Given the description of an element on the screen output the (x, y) to click on. 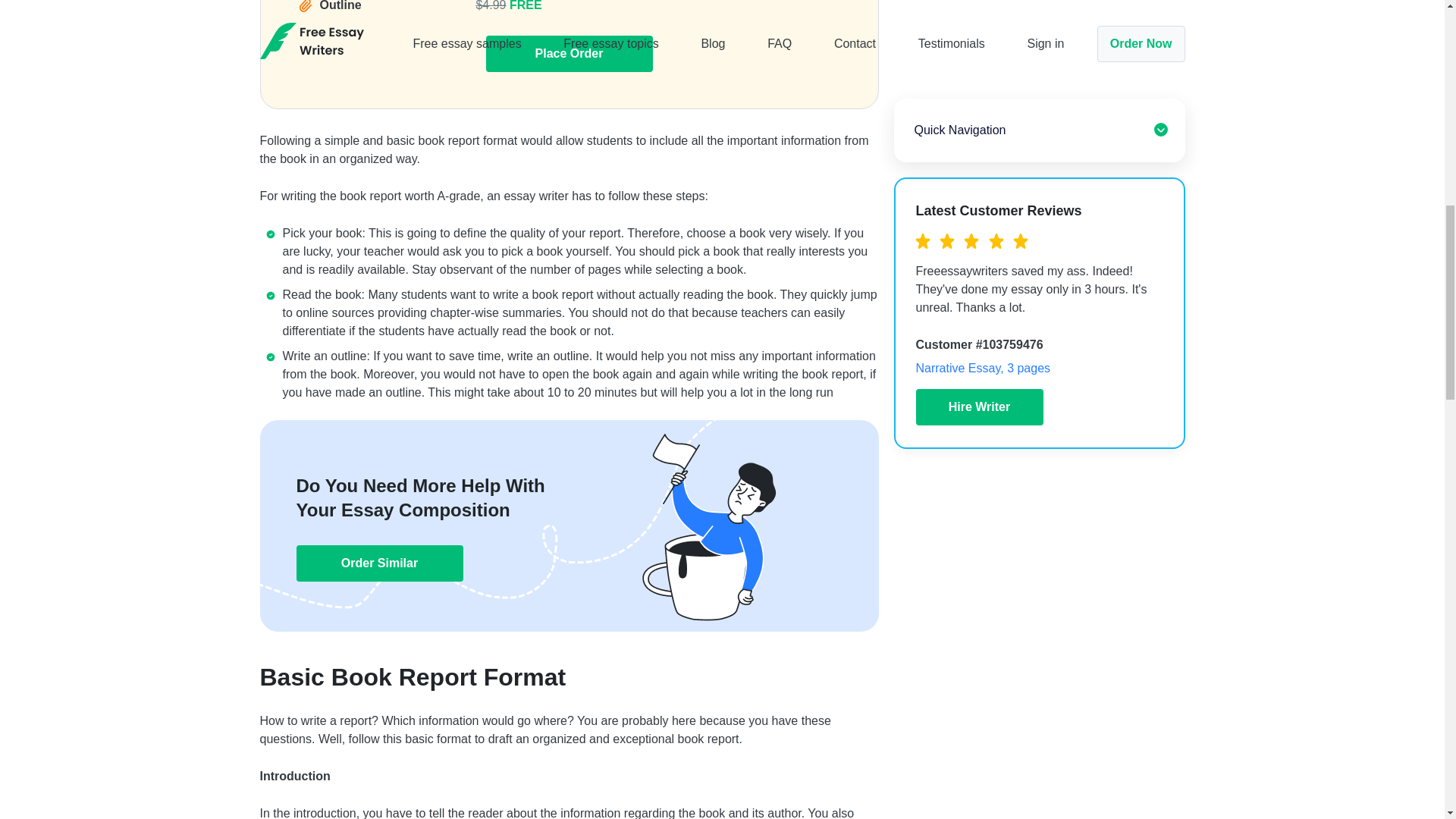
Hire Writer (979, 33)
essay writer (535, 195)
Place Order (568, 54)
Order Similar (379, 563)
